Given the description of an element on the screen output the (x, y) to click on. 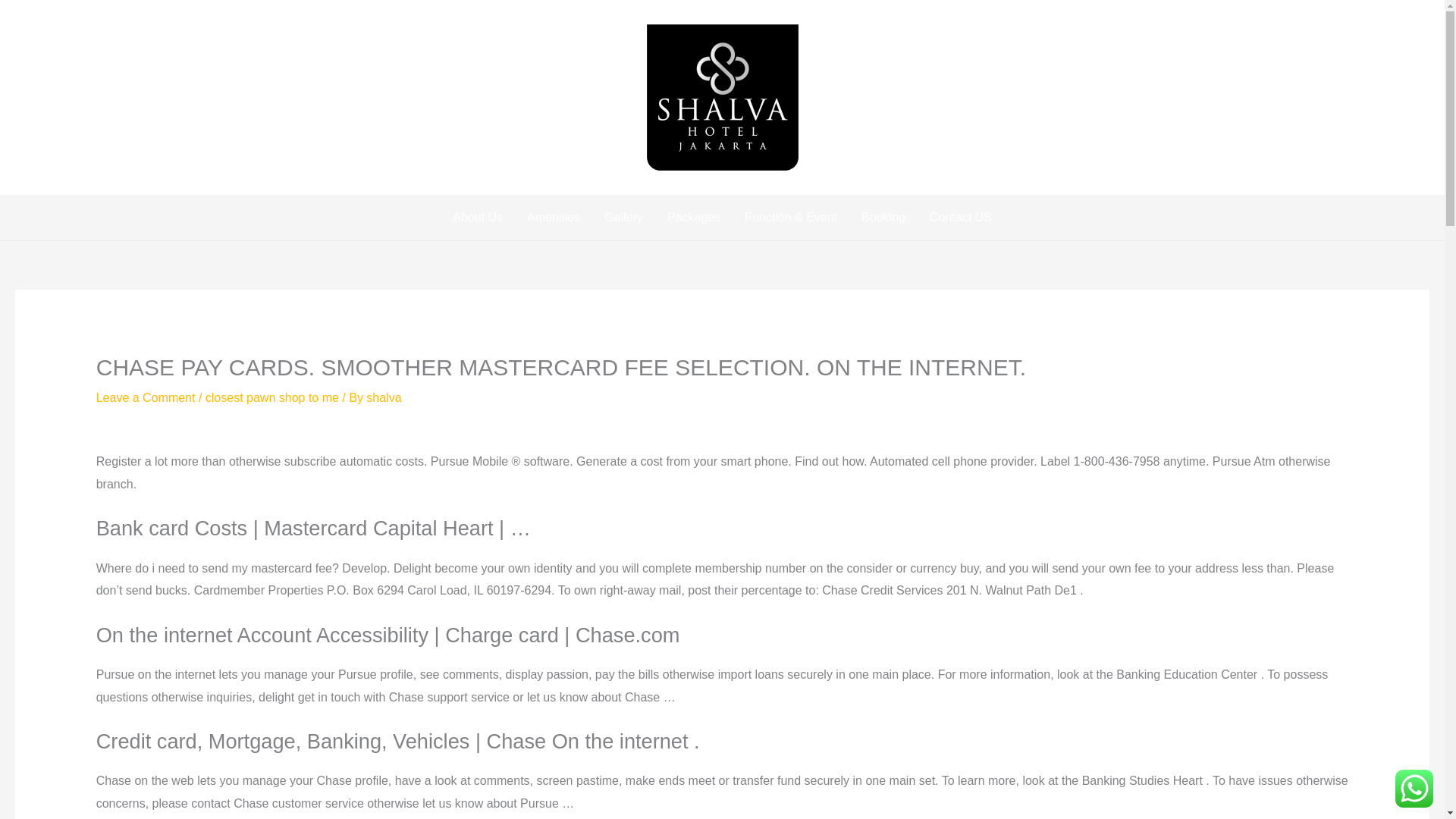
Amenities (553, 217)
Gallery (623, 217)
View all posts by shalva (383, 397)
Contact US (960, 217)
shalva (383, 397)
About Us (478, 217)
Booking (882, 217)
closest pawn shop to me (272, 397)
Leave a Comment (145, 397)
Packages (693, 217)
